Given the description of an element on the screen output the (x, y) to click on. 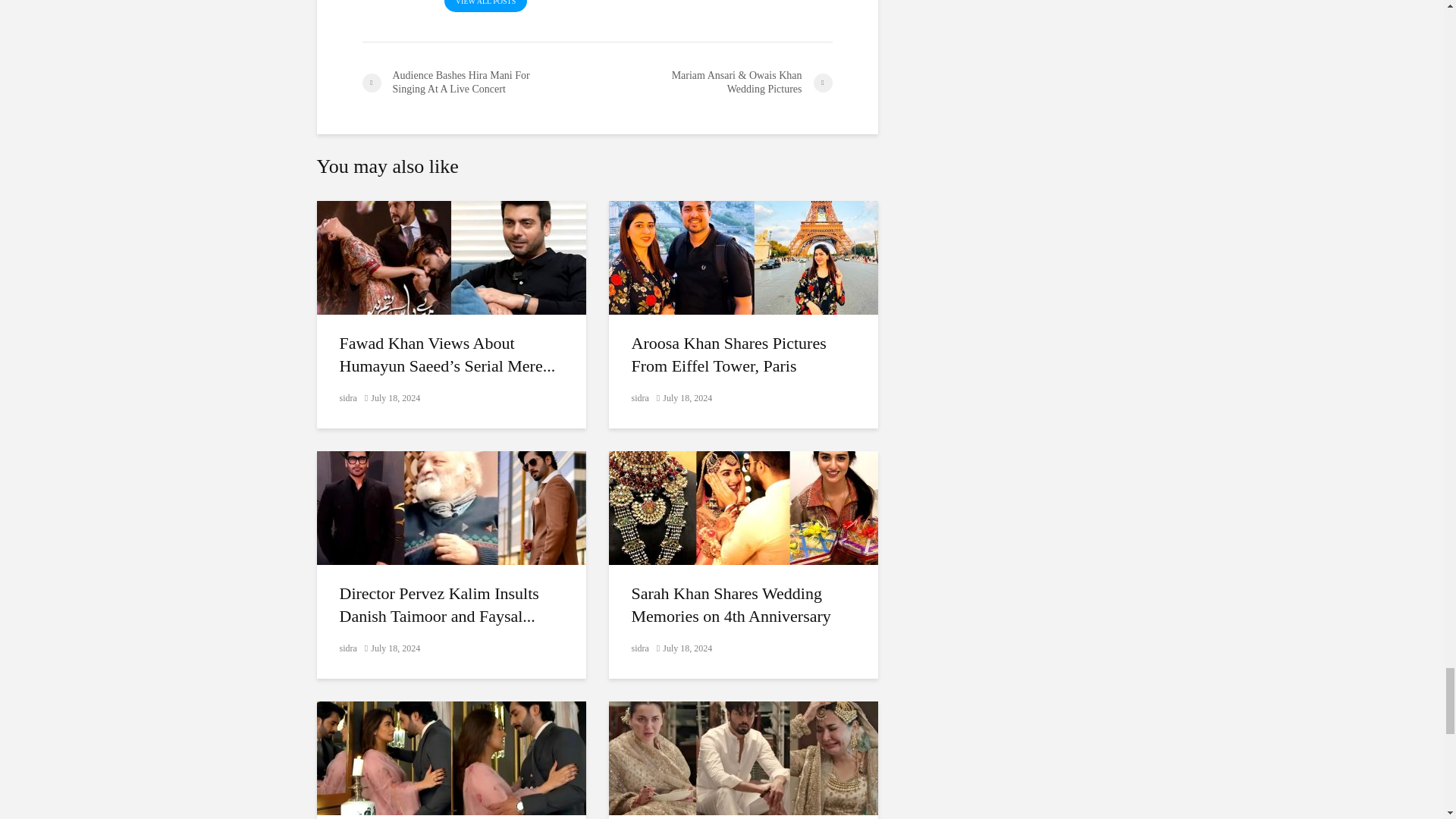
Audience Bashes Hira Mani For Singing At A Live Concert (479, 82)
VIEW ALL POSTS (485, 6)
